Given the description of an element on the screen output the (x, y) to click on. 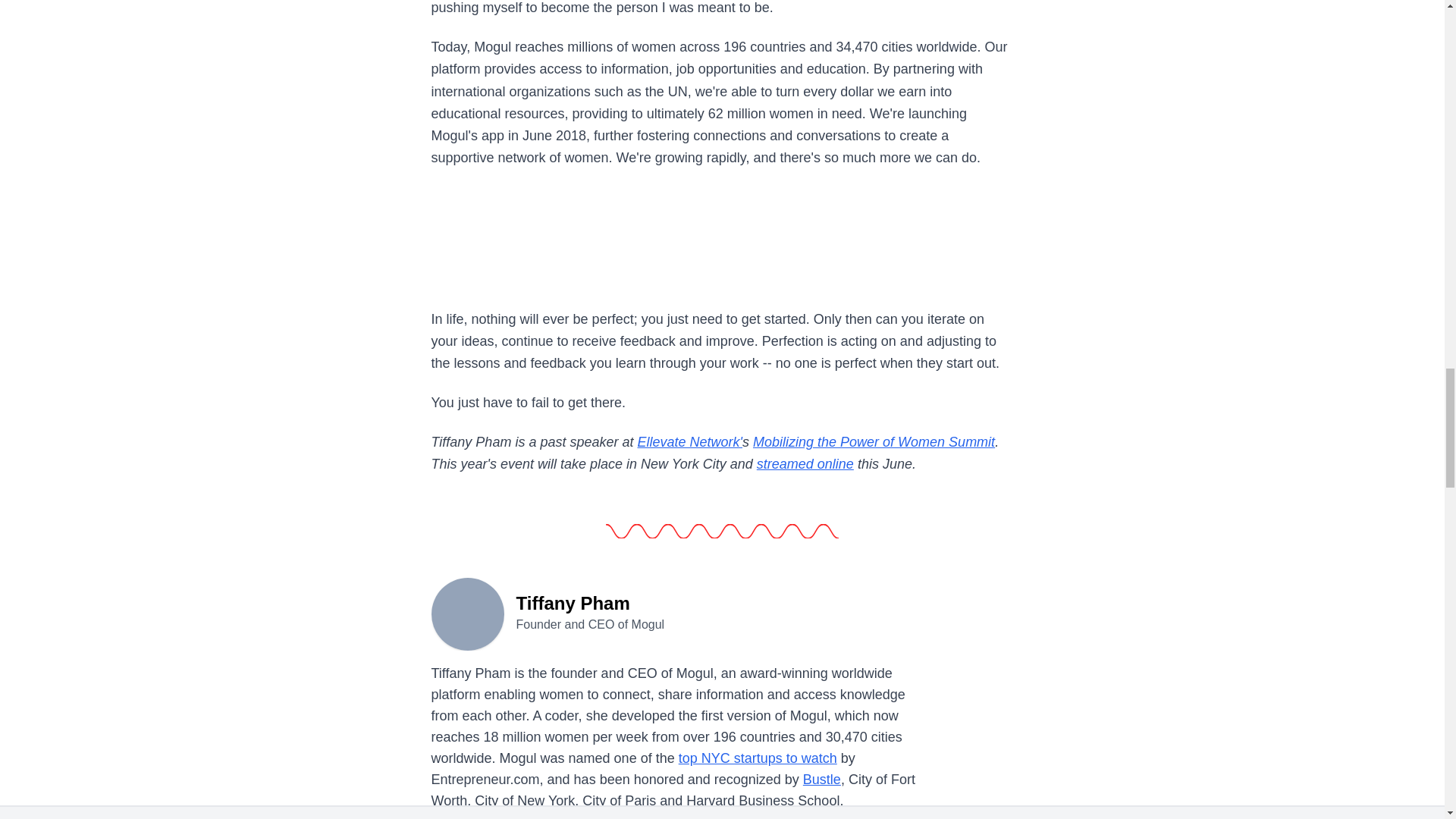
Tiffany Pham (466, 612)
